Given the description of an element on the screen output the (x, y) to click on. 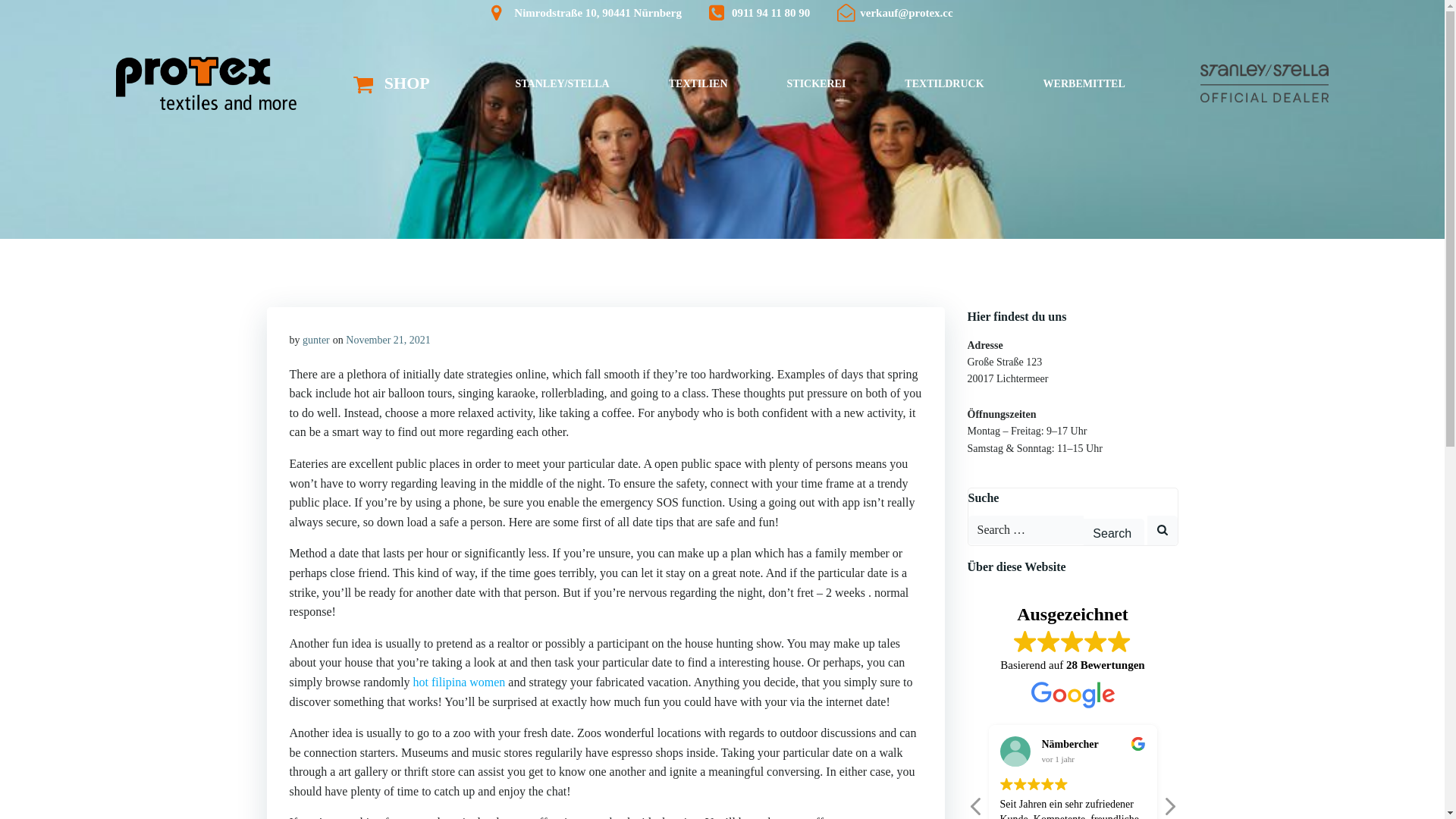
November 21, 2021 (388, 339)
TEXTILDRUCK (944, 83)
Search  (1112, 532)
gunter (316, 339)
Search  (1112, 532)
Colibri (994, 771)
SHOP (390, 83)
Search  (1112, 532)
WERBEMITTEL (1084, 83)
TEXTILIEN (698, 83)
STICKEREI (816, 83)
hot filipina women (459, 681)
